Given the description of an element on the screen output the (x, y) to click on. 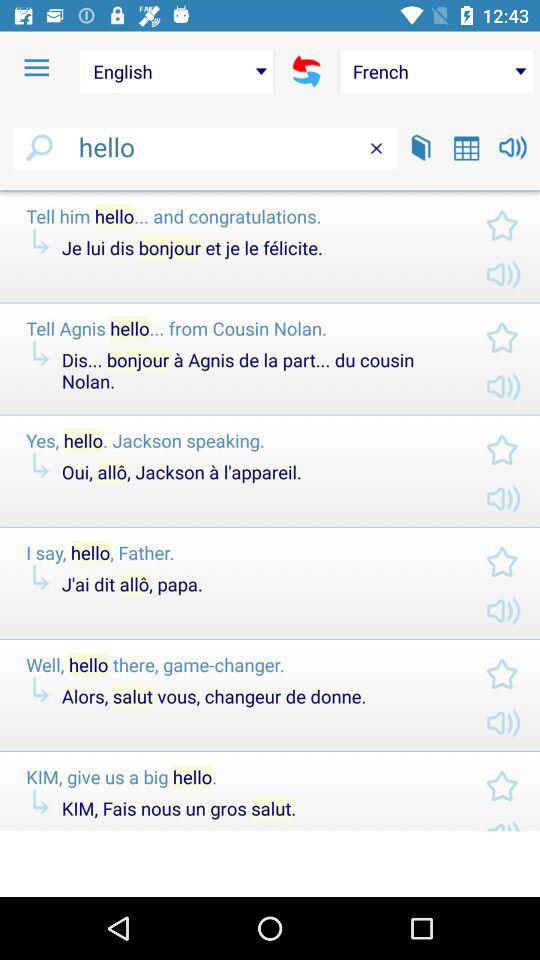
click j ai dit item (257, 583)
